Given the description of an element on the screen output the (x, y) to click on. 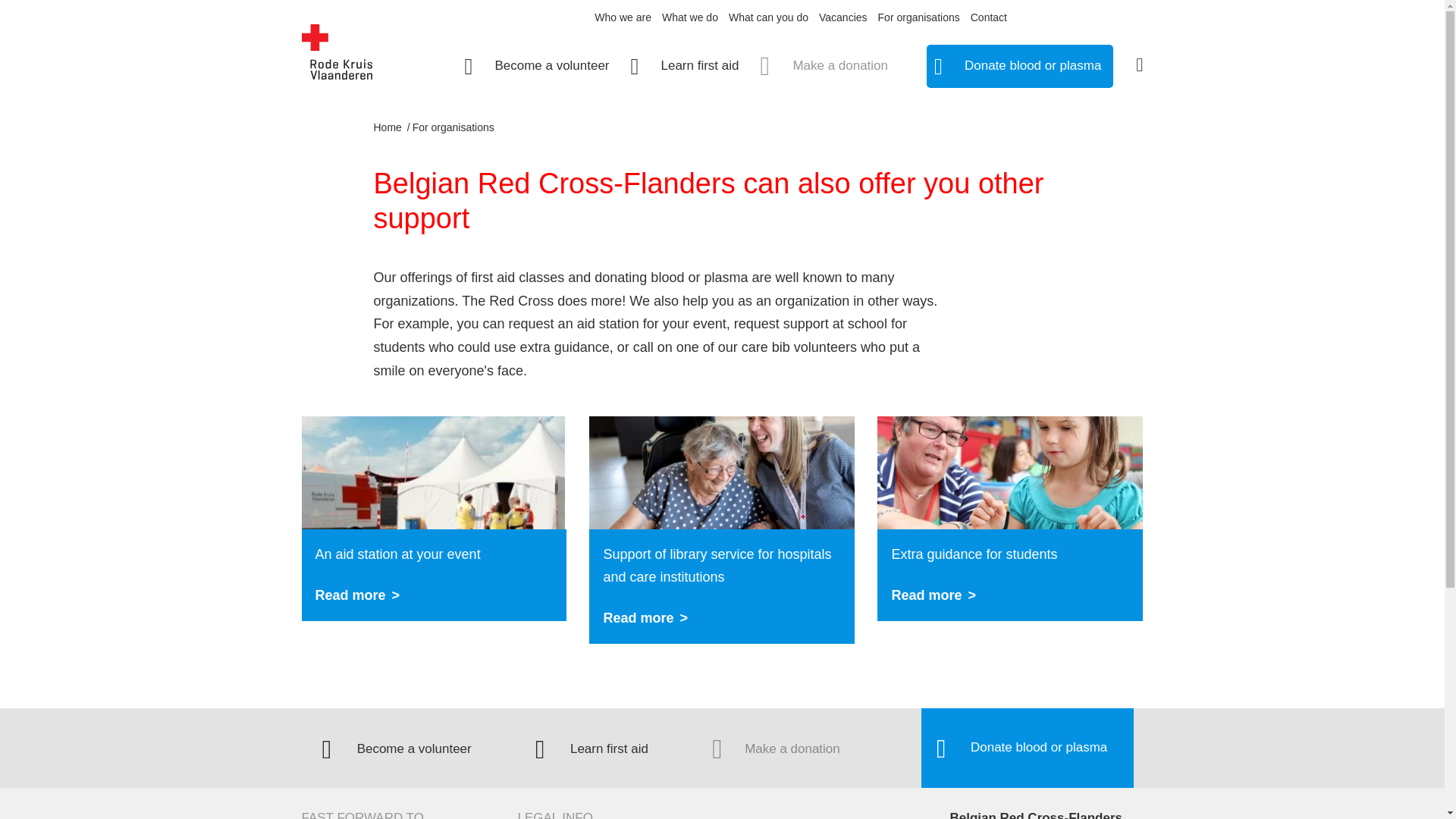
Home (388, 127)
Learn first aid (591, 749)
Contact (989, 17)
Donate blood or plasma (1009, 518)
Learn first aid (1019, 66)
What can you do (684, 60)
Who we are (768, 17)
Learn first aid (622, 17)
Donate blood or plasma (591, 749)
